Given the description of an element on the screen output the (x, y) to click on. 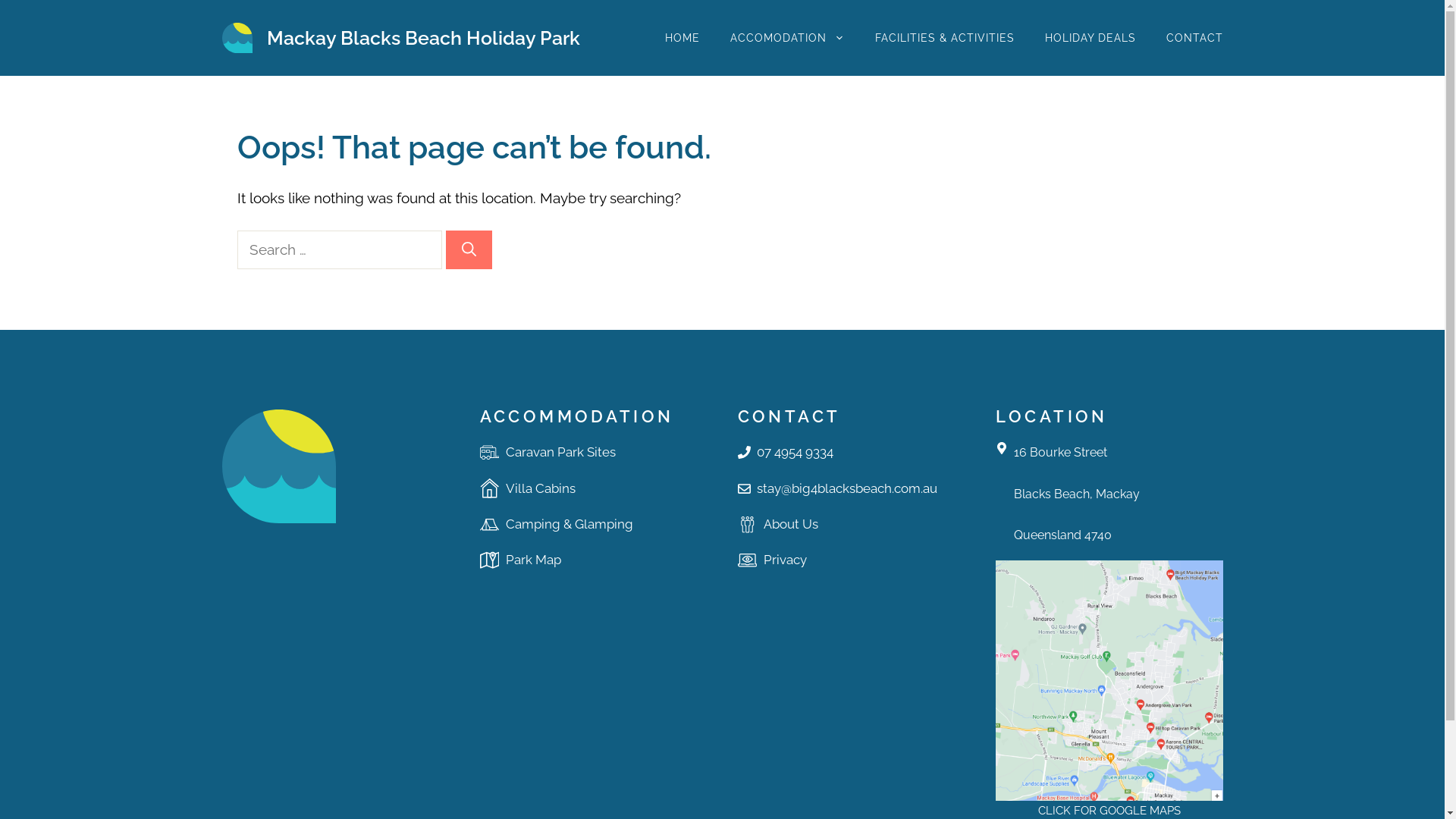
Search for: Element type: hover (338, 249)
Park Map Element type: text (532, 559)
Villa Cabins Element type: text (539, 487)
HOLIDAY DEALS Element type: text (1090, 37)
stay@big4blacksbeach.com.au Element type: text (846, 487)
CLICK FOR GOOGLE MAPS Element type: text (1108, 810)
07 4954 9334 Element type: text (794, 451)
Camping & Glamping Element type: text (568, 523)
About Us Element type: text (789, 523)
ACCOMODATION Element type: text (786, 37)
FACILITIES & ACTIVITIES Element type: text (944, 37)
Mackay Blacks Beach Holiday Park Element type: text (423, 37)
CONTACT Element type: text (1194, 37)
HOME Element type: text (681, 37)
Privacy Element type: text (784, 559)
Caravan Park Sites Element type: text (560, 451)
